Given the description of an element on the screen output the (x, y) to click on. 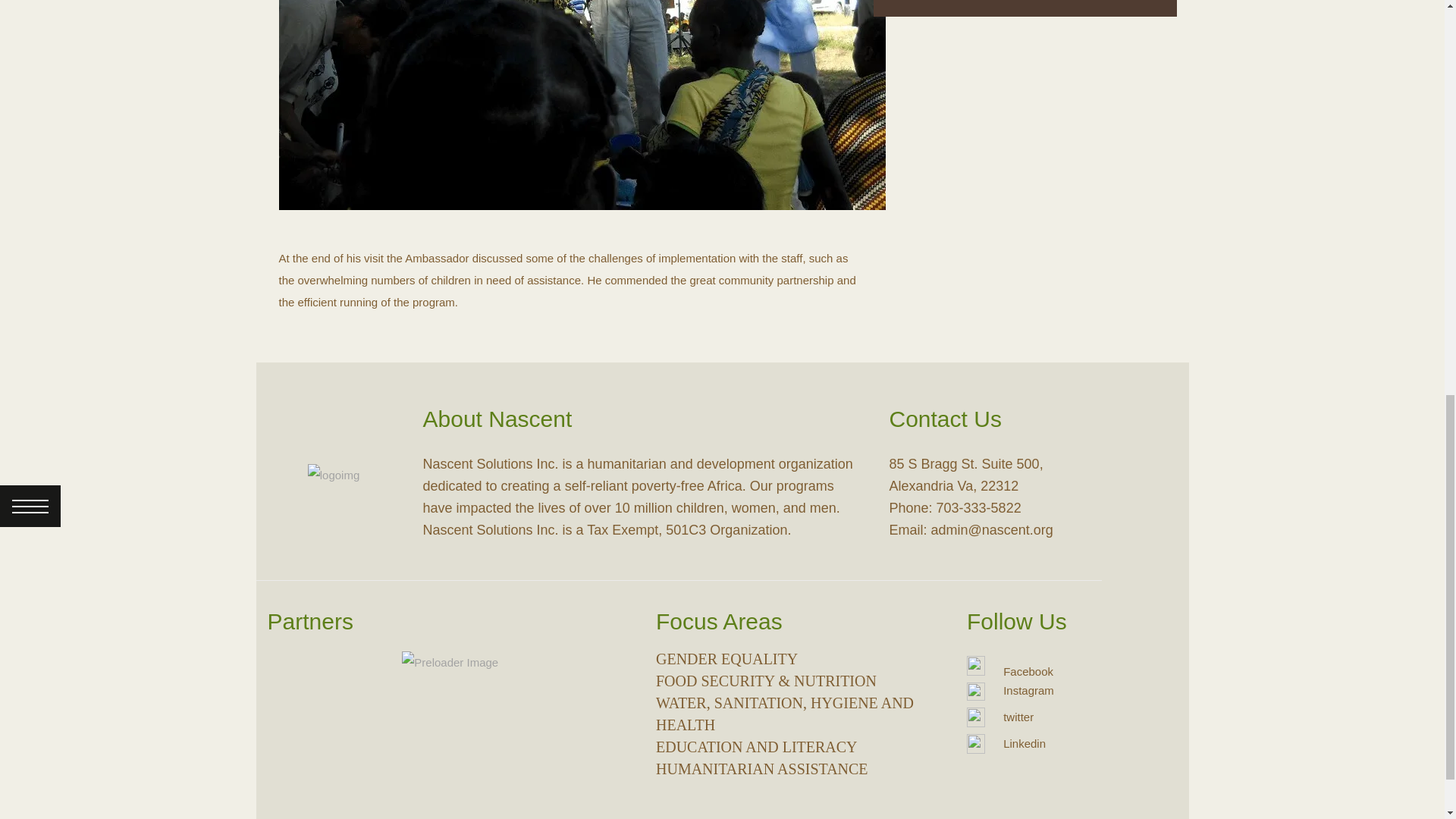
logoimg (333, 475)
